Given the description of an element on the screen output the (x, y) to click on. 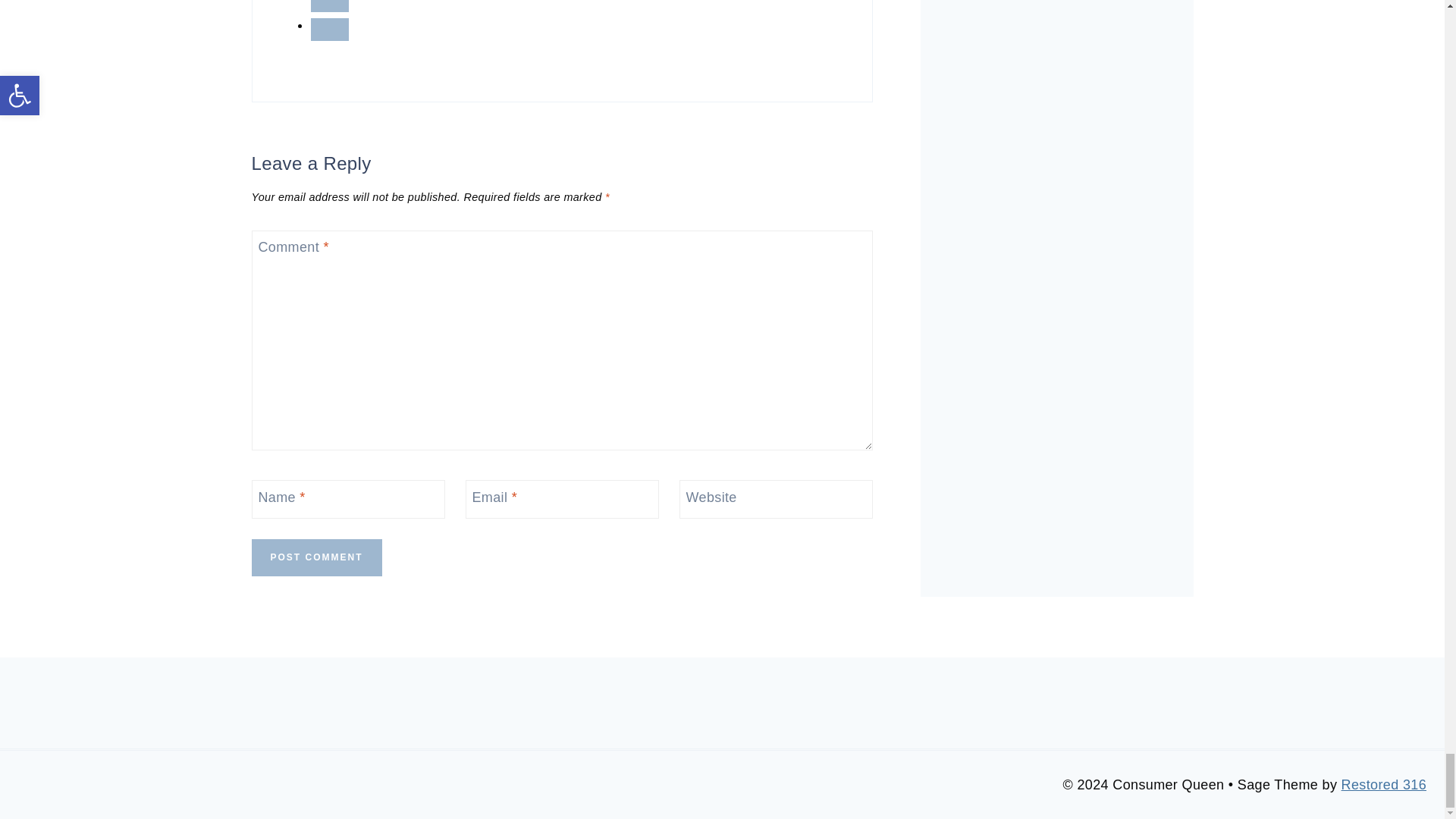
Post Comment (316, 557)
